Given the description of an element on the screen output the (x, y) to click on. 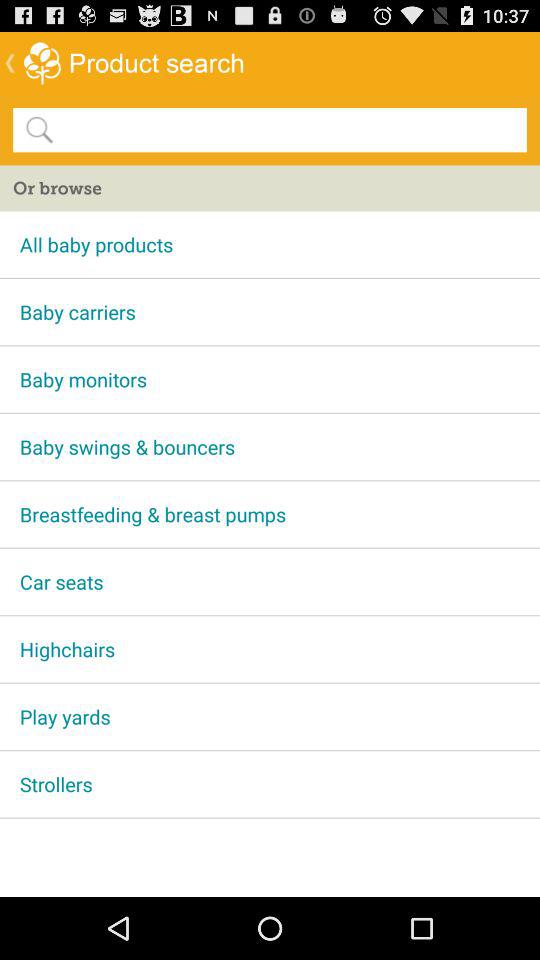
click icon below the car seats item (270, 649)
